Given the description of an element on the screen output the (x, y) to click on. 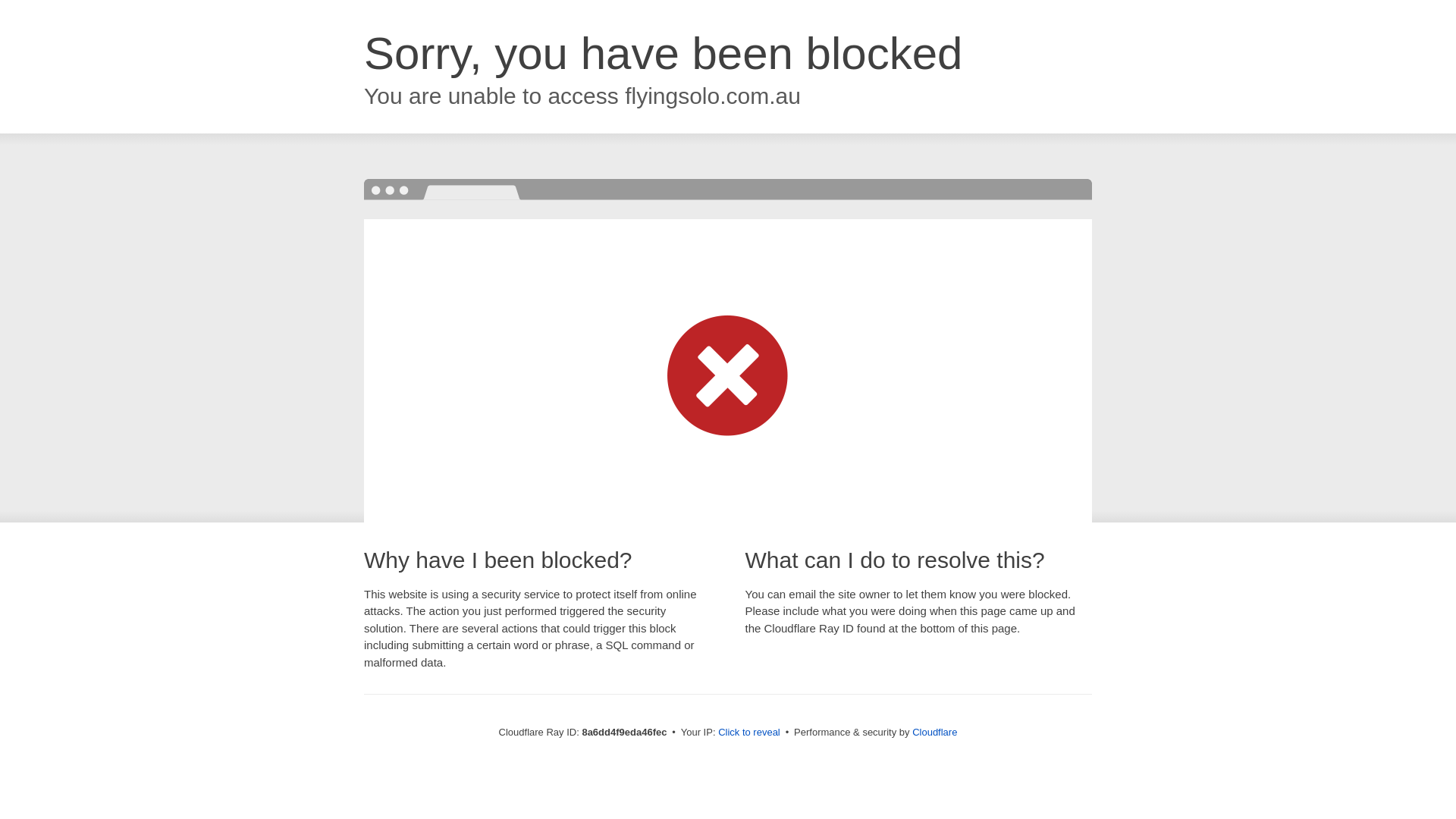
Cloudflare (934, 731)
Click to reveal (748, 732)
